Given the description of an element on the screen output the (x, y) to click on. 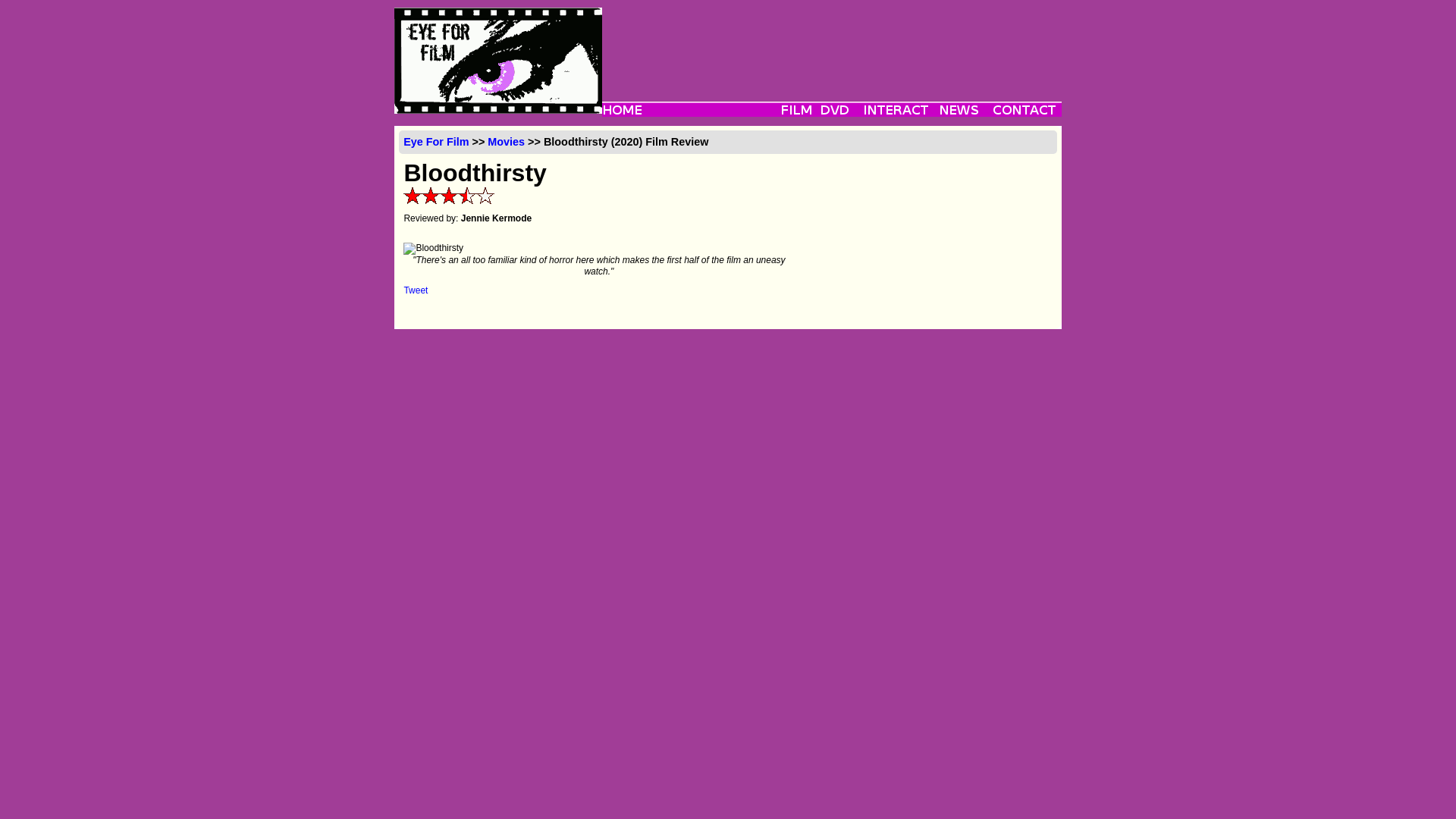
Jennie Kermode (496, 217)
Tweet (415, 290)
Movies (505, 141)
Eye For Film (435, 141)
